Given the description of an element on the screen output the (x, y) to click on. 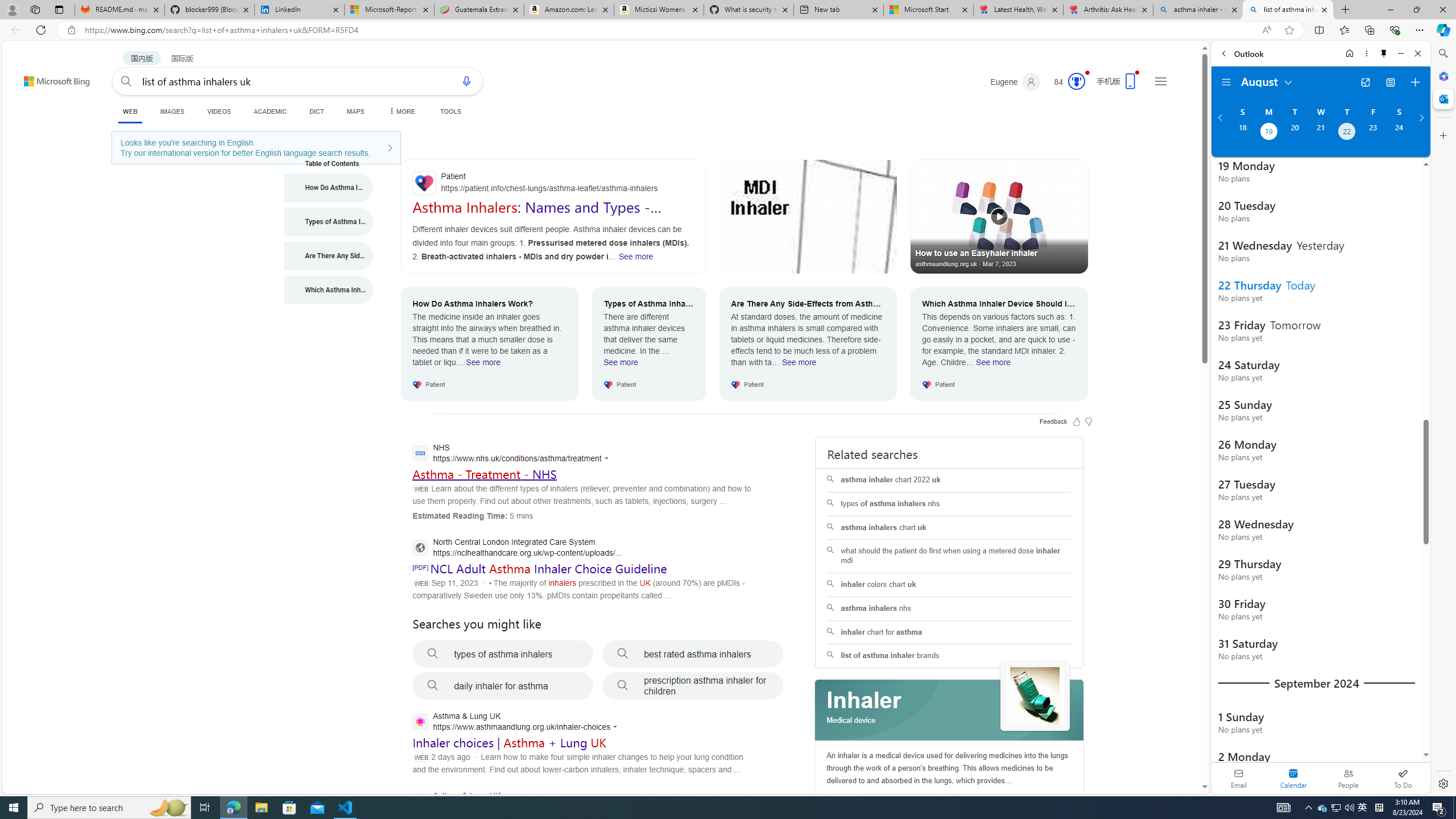
Thursday, August 22, 2024. Today.  (1346, 132)
Create event (1414, 82)
Feedback Dislike (1088, 420)
